Given the description of an element on the screen output the (x, y) to click on. 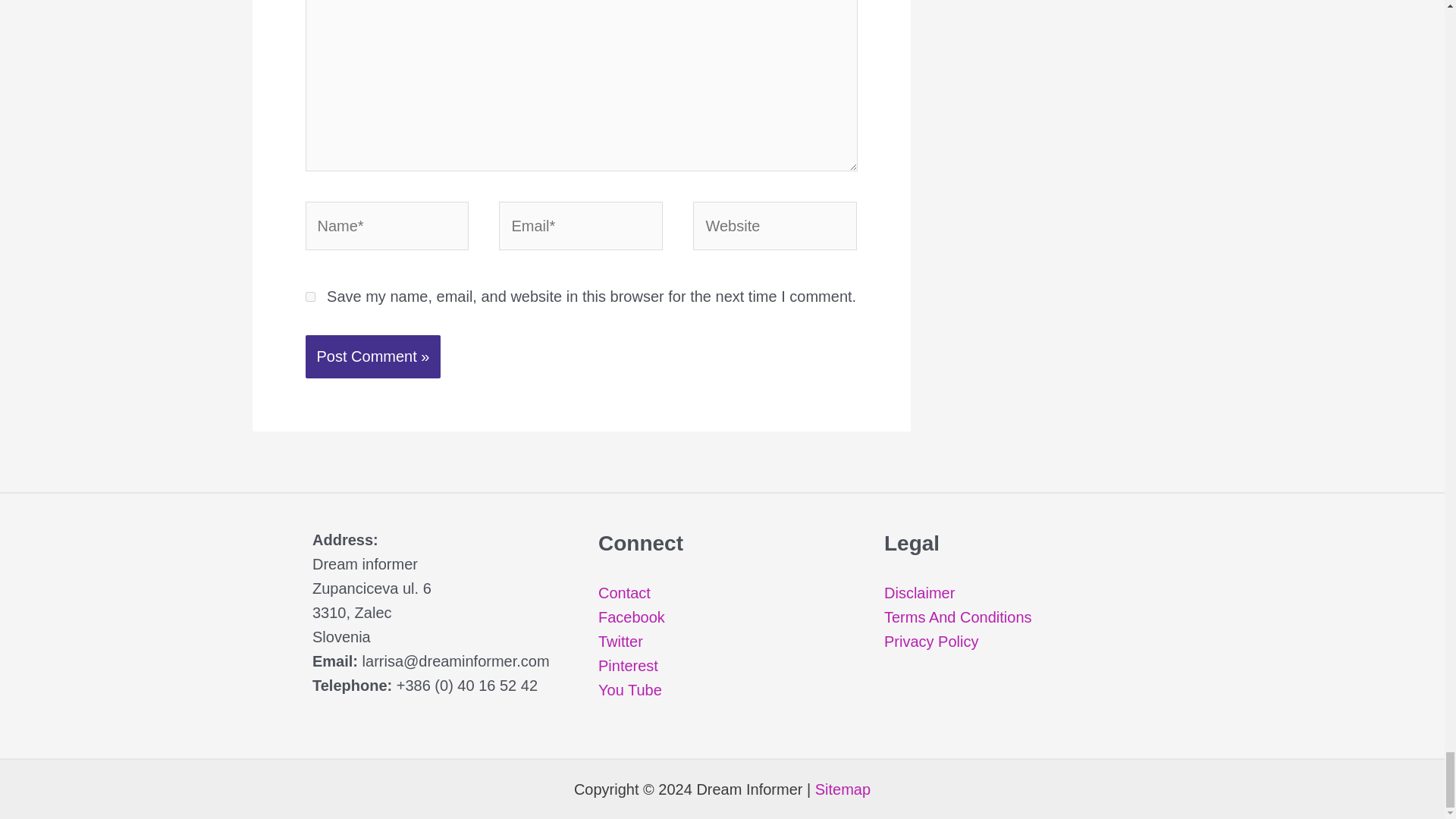
yes (309, 296)
